Given the description of an element on the screen output the (x, y) to click on. 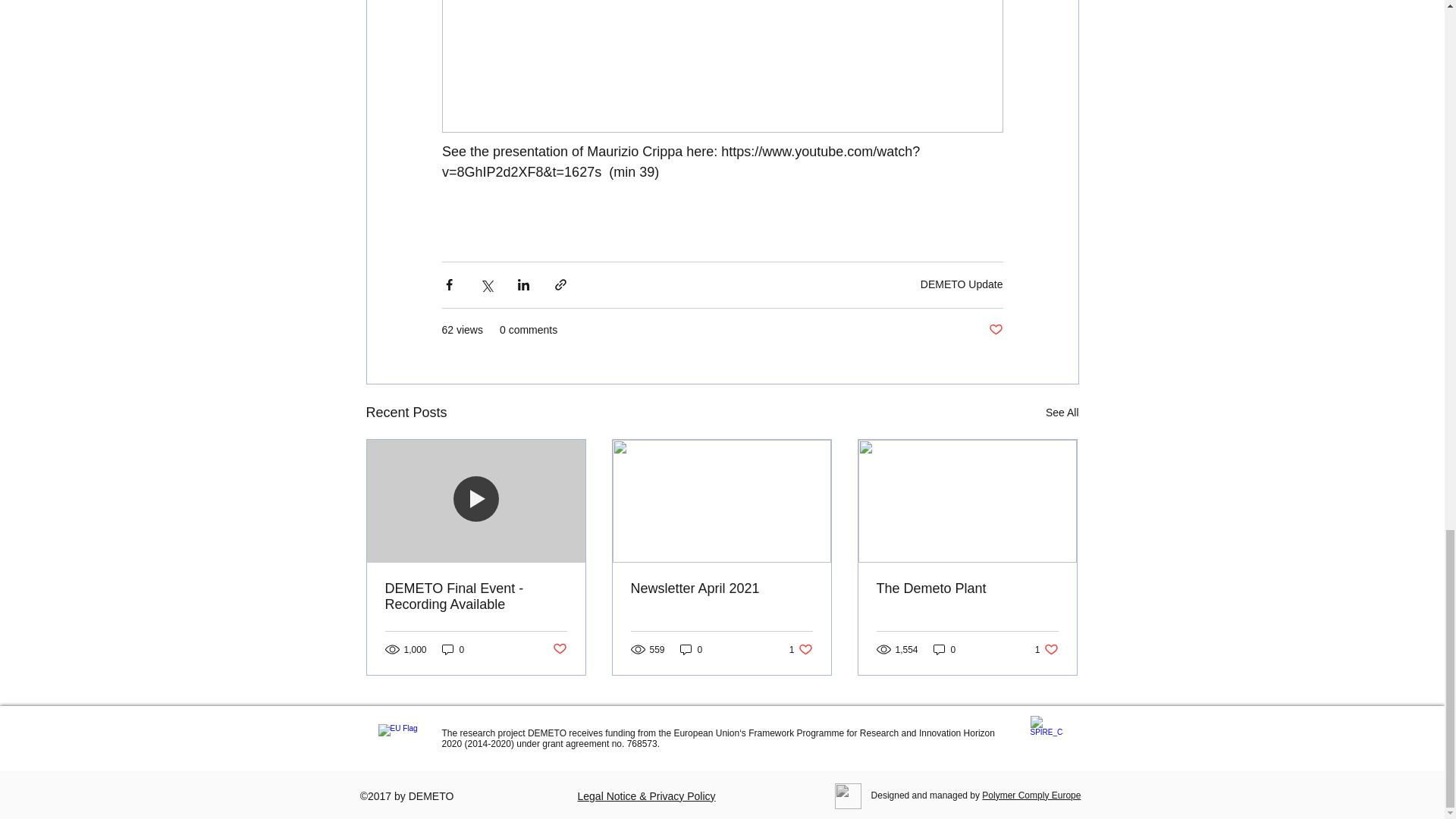
The Demeto Plant (967, 588)
0 (691, 649)
0 (453, 649)
See All (1061, 413)
Newsletter April 2021 (721, 588)
DEMETO Update (961, 284)
DEMETO Final Event - Recording Available (476, 596)
0 (944, 649)
Post not marked as liked (558, 649)
Post not marked as liked (995, 330)
